Given the description of an element on the screen output the (x, y) to click on. 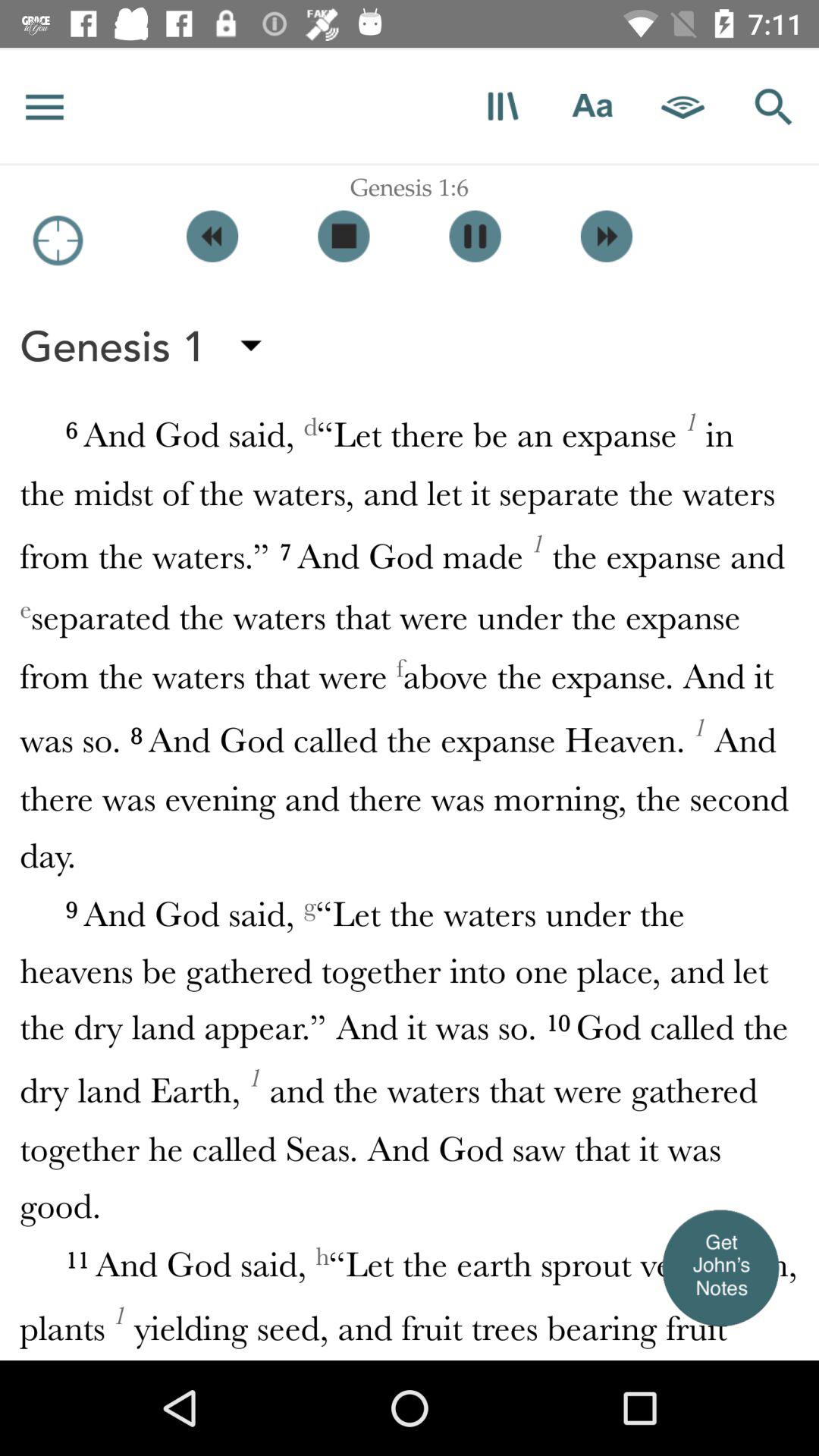
pause audio button (475, 236)
